Given the description of an element on the screen output the (x, y) to click on. 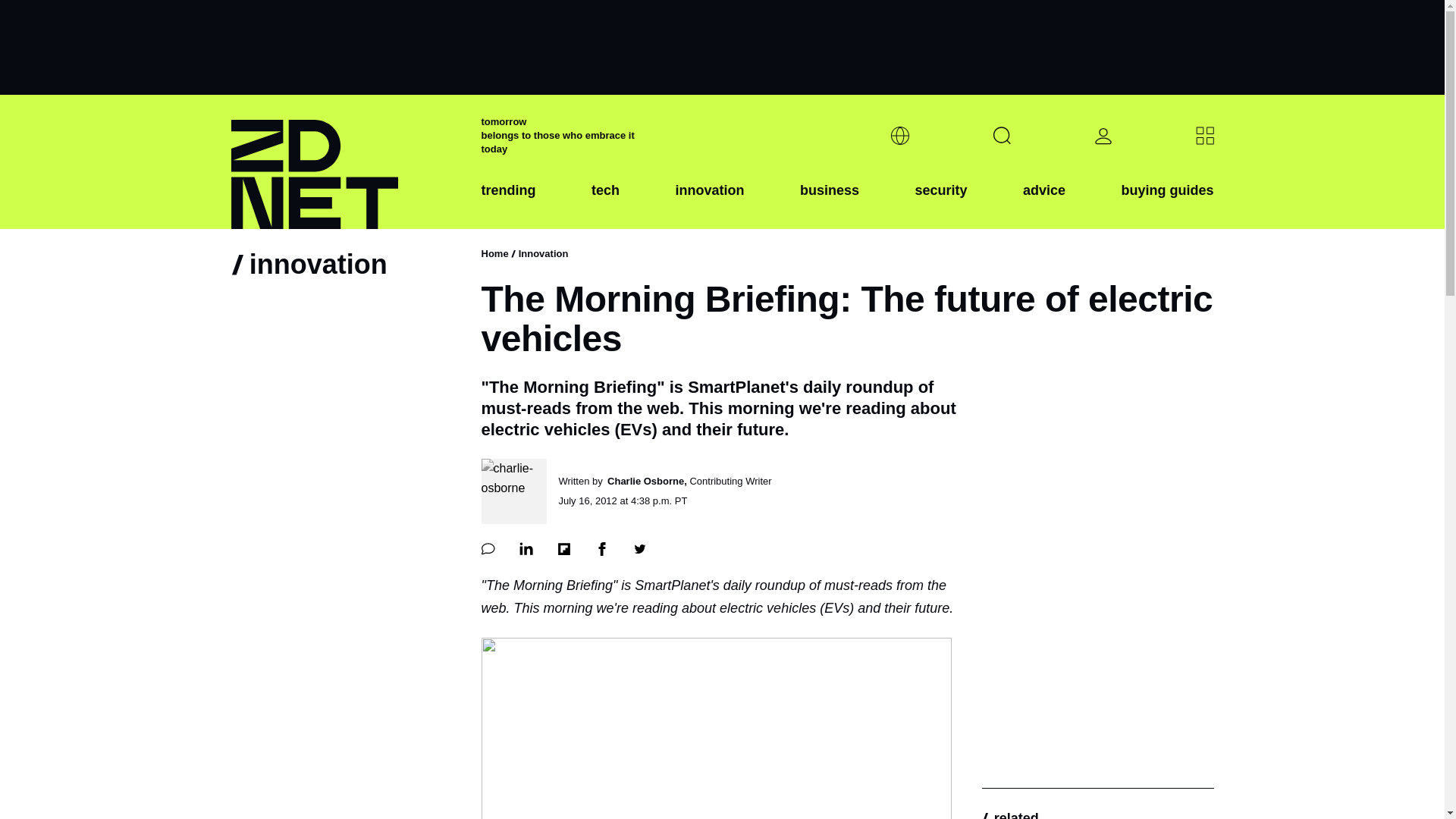
trending (507, 202)
tech (605, 202)
future electric vehicles (715, 728)
ZDNET (346, 162)
